Given the description of an element on the screen output the (x, y) to click on. 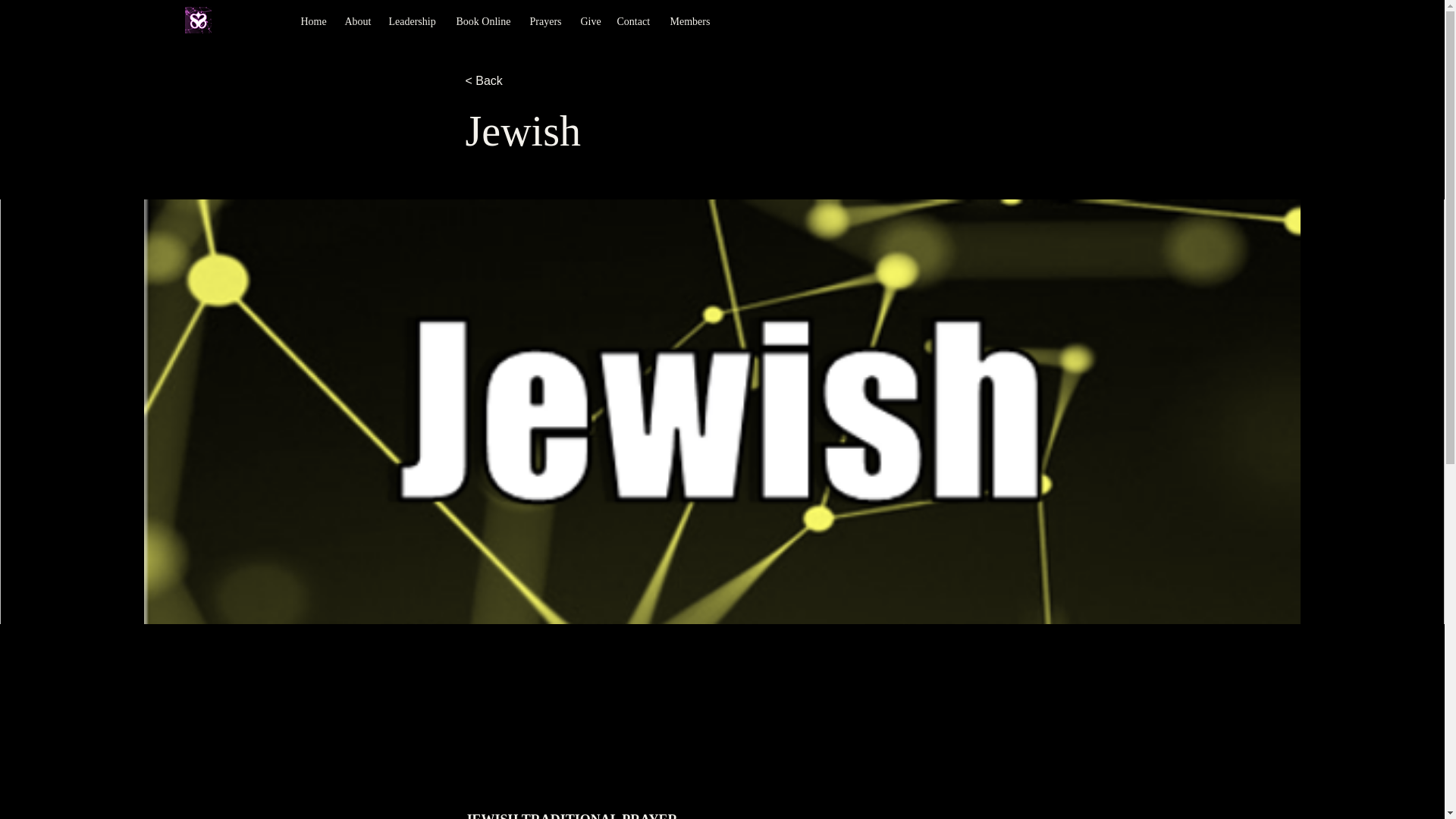
Book Online (485, 21)
Contact (636, 21)
Home (314, 21)
Leadership (414, 21)
About (358, 21)
Give (591, 21)
Prayers (546, 21)
Members (692, 21)
Click here to Return to Main Page (197, 19)
